Given the description of an element on the screen output the (x, y) to click on. 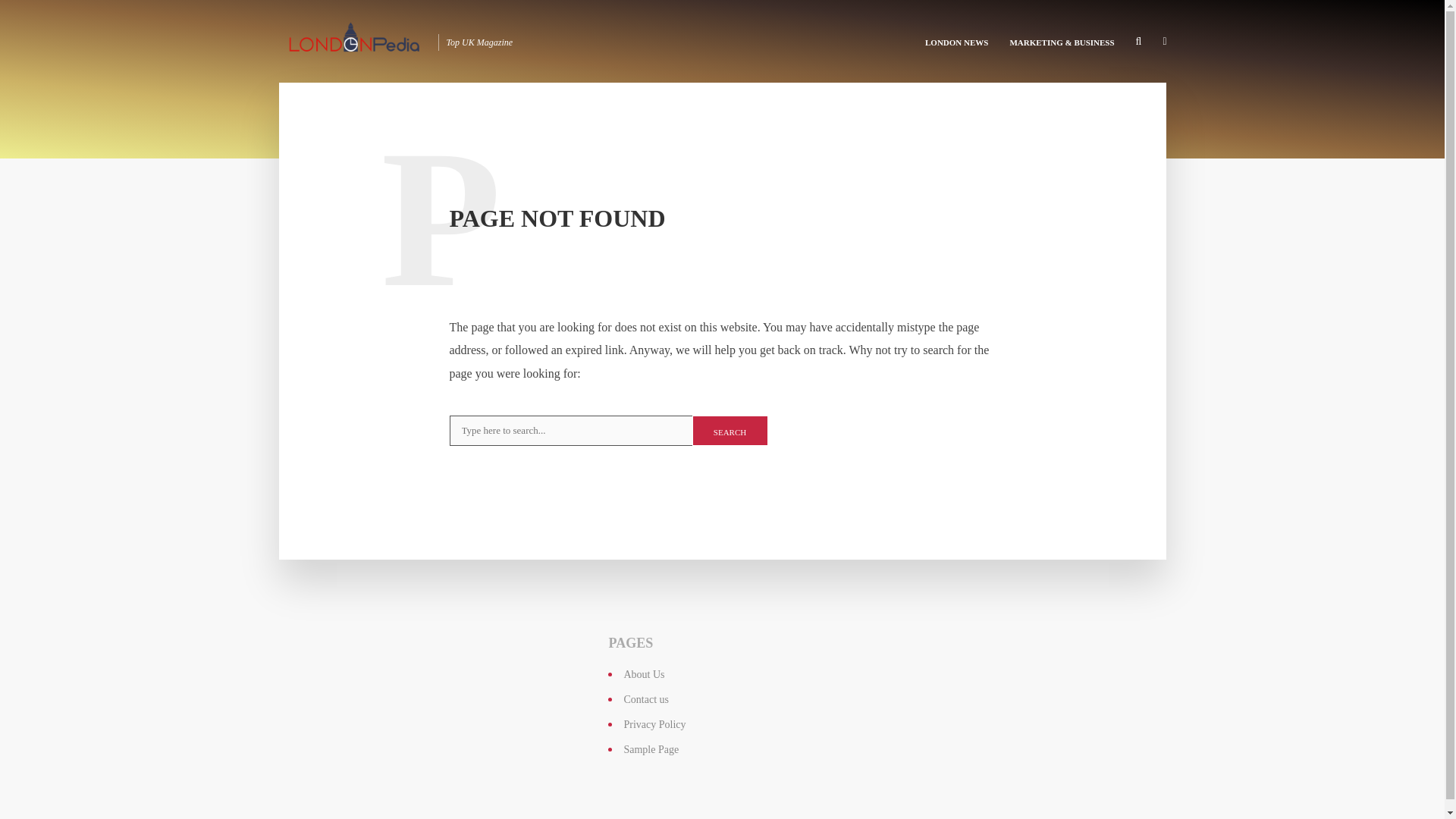
Privacy Policy (654, 724)
LONDON NEWS (956, 41)
Contact us (645, 699)
About Us (643, 674)
SEARCH (729, 430)
Sample Page (650, 749)
